Given the description of an element on the screen output the (x, y) to click on. 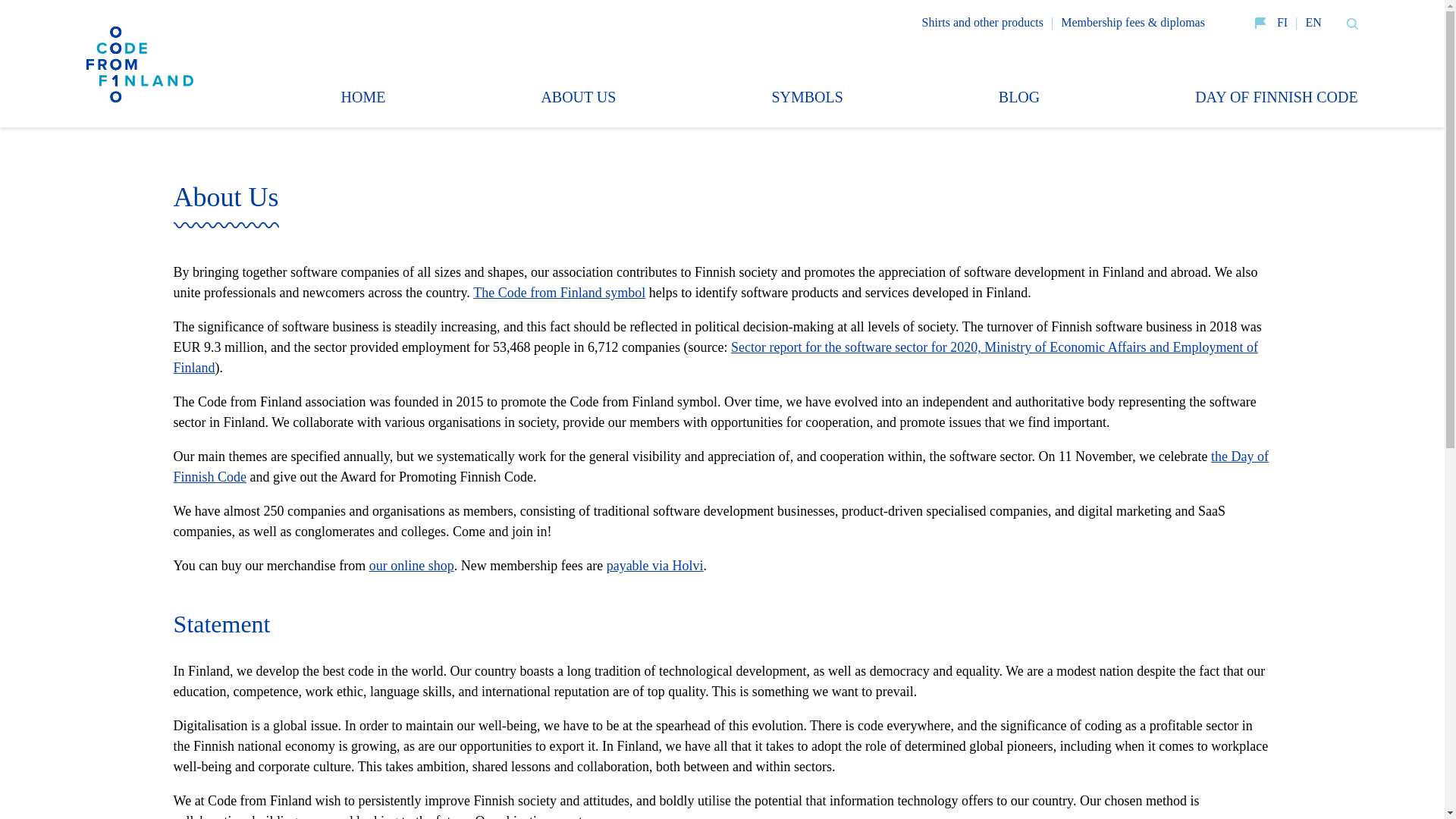
The Code from Finland symbol (559, 292)
SYMBOLS (807, 96)
BLOG (1018, 96)
Shirts and other products (982, 21)
our online shop (411, 565)
FI (1281, 21)
HOME (362, 96)
the Day of Finnish Code (720, 466)
ABOUT US (577, 96)
EN (1312, 21)
payable via Holvi (655, 565)
Code from Finland (139, 61)
Code from Finland (139, 61)
DAY OF FINNISH CODE (1276, 96)
